Given the description of an element on the screen output the (x, y) to click on. 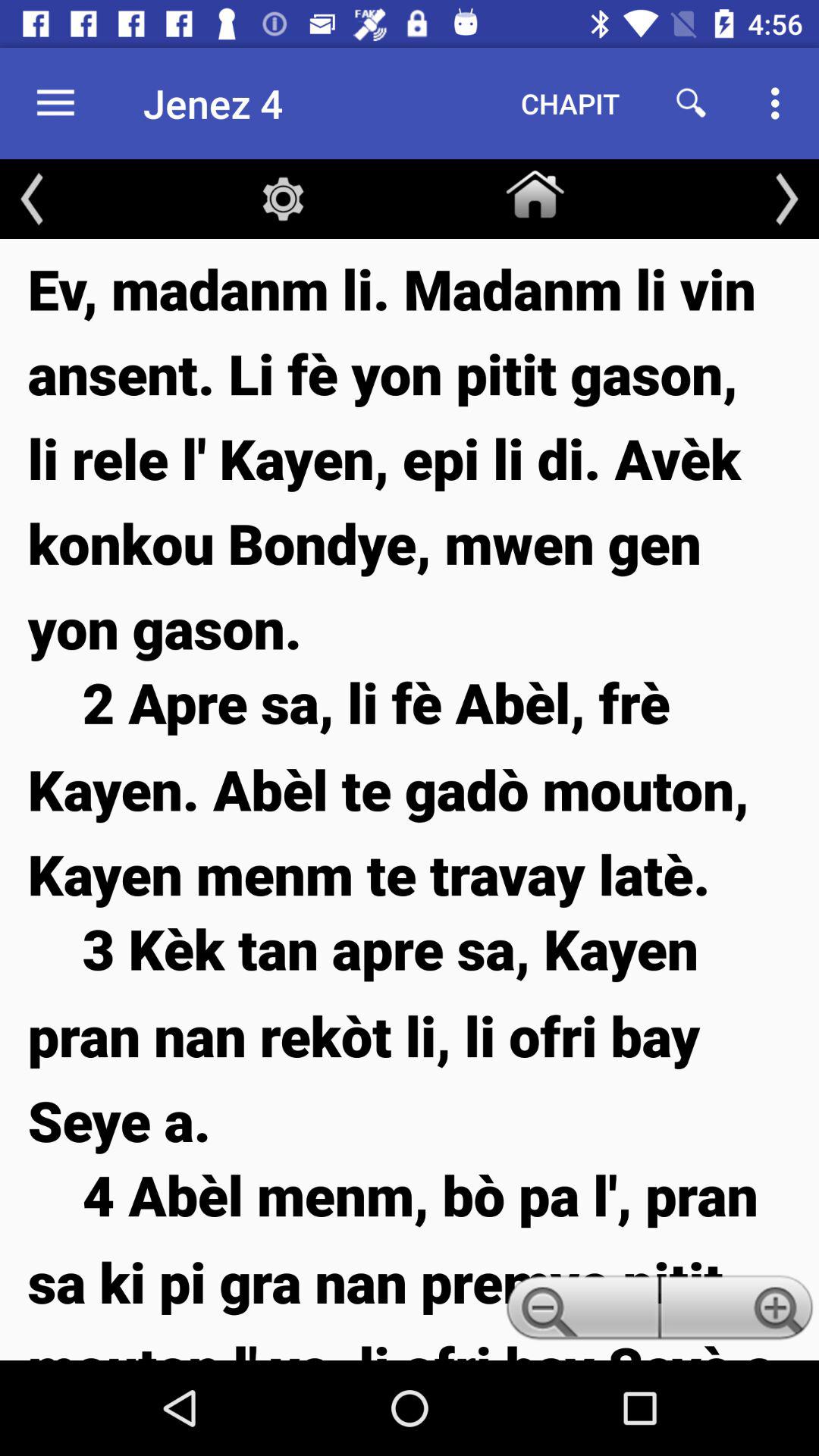
open the item next to the chapit item (691, 103)
